Given the description of an element on the screen output the (x, y) to click on. 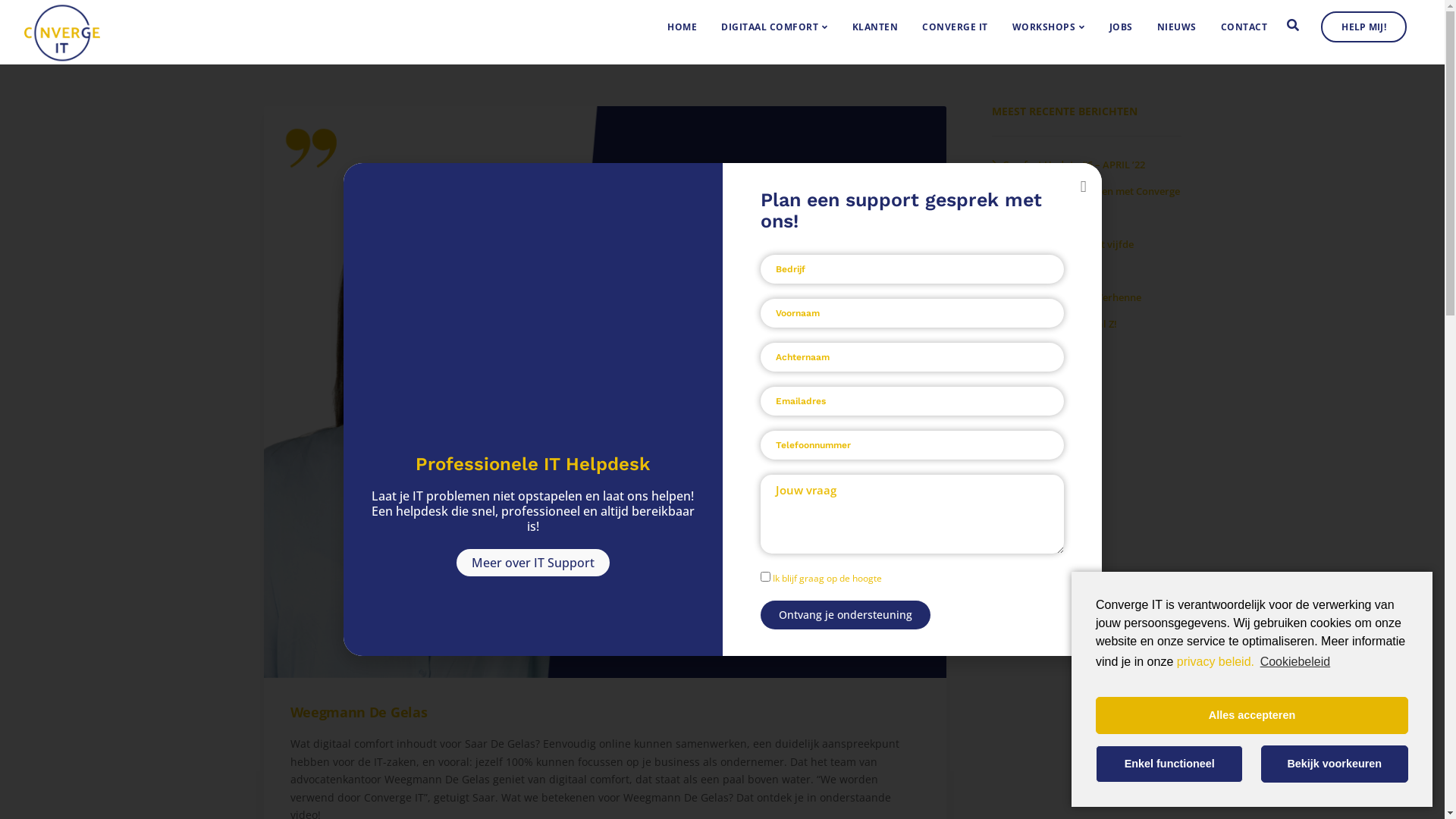
Microsoft Teams viert vijfde verjaardag Element type: text (1062, 257)
DIGITAAL COMFORT Element type: text (604, 290)
NIEUWS Element type: text (1176, 26)
REALISATIE: Garage Verhenne Element type: text (1066, 297)
CONVERGE IT Element type: text (604, 426)
Alles accepteren Element type: text (1251, 715)
WORKSHOPS Element type: text (603, 452)
COOKIE POLICY Element type: text (1074, 292)
CONTACT Element type: text (1244, 26)
Club Brugge is tevreden met Converge IT als business partner Element type: text (1085, 204)
HELP MIJ! Element type: text (1363, 26)
privacy beleid. Element type: text (1215, 661)
HOME Element type: text (682, 26)
NIEUWS Element type: text (604, 615)
Converge IT op kanaal Z! Element type: text (1054, 323)
WORKSHOPS Element type: text (1048, 26)
JOBS Element type: text (1121, 26)
KLANTEN Element type: text (875, 26)
HOP-ON, HOP-OFF TOUR Element type: text (604, 532)
PRODUCTIVITEIT Element type: text (604, 317)
PRIVACY POLICY Element type: text (1074, 263)
NIEUWSBRIEF Element type: text (840, 421)
TEAMS TOUR Element type: text (604, 505)
Cookiebeleid Element type: text (1293, 661)
Enkel functioneel Element type: text (1168, 763)
KLANTEN Element type: text (604, 398)
DIGITAAL COMFORT Element type: text (774, 26)
ALGEMENE VOORWAARDEN Element type: text (1074, 320)
PHISHING IN-HOUSE TRAINING Element type: text (604, 558)
ZERO TRUST: VAN THEORIE NAAR DE PRAKTIJK Element type: text (604, 479)
HOME Element type: text (604, 263)
ONDERSTEUNING Element type: text (604, 370)
Bekijk voorkeuren Element type: text (1334, 763)
IT SECURITY Element type: text (604, 343)
CONTACT Element type: text (604, 643)
CONVERGE IT Element type: text (955, 26)
JOBS Element type: text (604, 587)
